Given the description of an element on the screen output the (x, y) to click on. 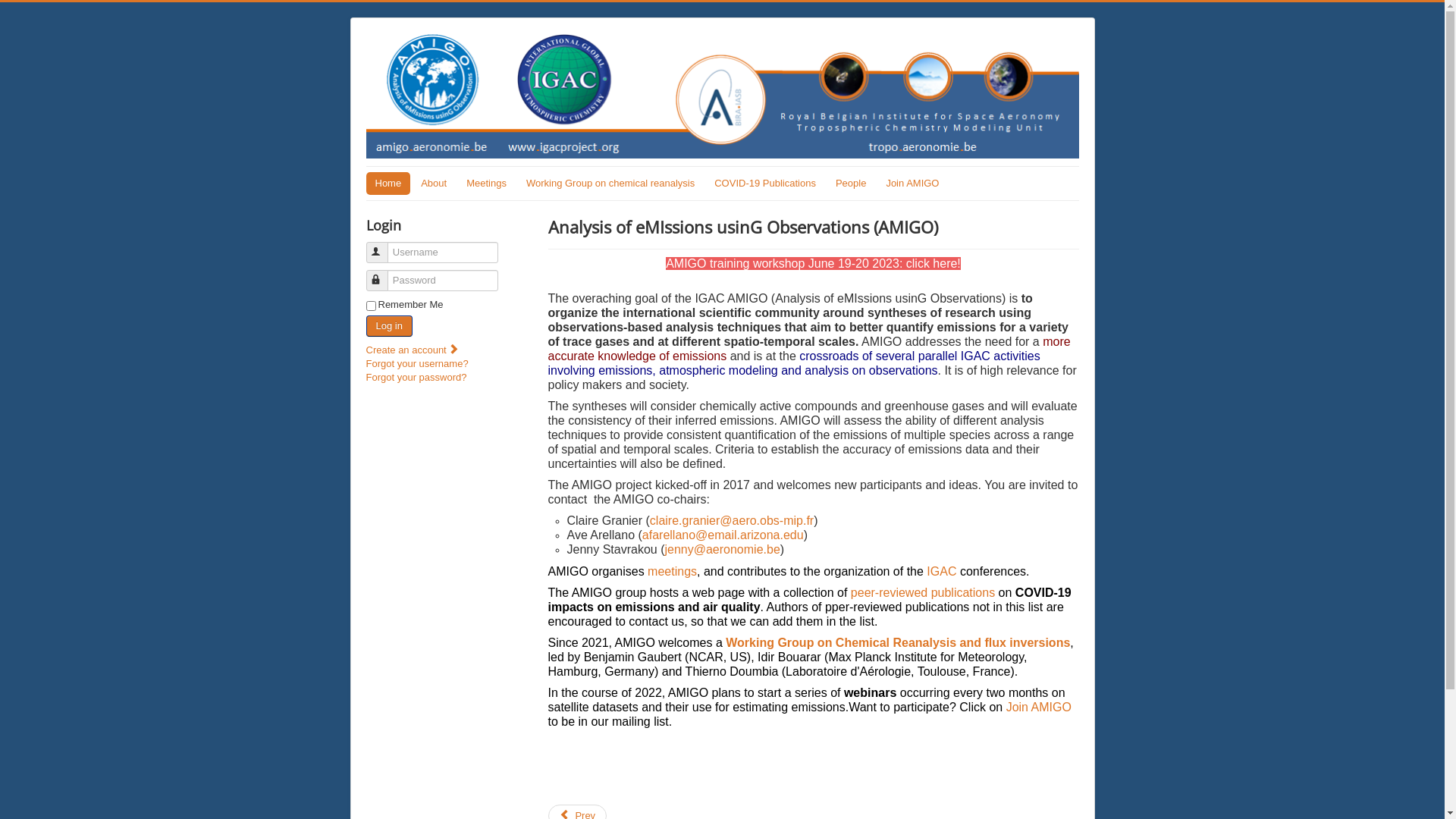
meetings Element type: text (671, 570)
Log in Element type: text (388, 325)
Join AMIGO Element type: text (911, 183)
claire.granier@aero.obs-mip.fr Element type: text (731, 520)
jenny@aeronomie.be Element type: text (721, 548)
AMIGO training workshop June 19-20 2023: click here! Element type: text (812, 263)
Join AMIGO Element type: text (1038, 706)
COVID-19 Publications Element type: text (765, 183)
Forgot your password? Element type: text (415, 376)
People Element type: text (850, 183)
Home Element type: text (387, 183)
Meetings Element type: text (486, 183)
Forgot your username? Element type: text (416, 363)
IGAC Element type: text (941, 570)
Working Group on chemical reanalysis Element type: text (610, 183)
About Element type: text (433, 183)
afarellano@email.arizona.edu Element type: text (722, 534)
Working Group on Chemical Reanalysis and flux inversions Element type: text (896, 642)
peer-reviewed publications Element type: text (922, 592)
Create an account Element type: text (413, 349)
